Given the description of an element on the screen output the (x, y) to click on. 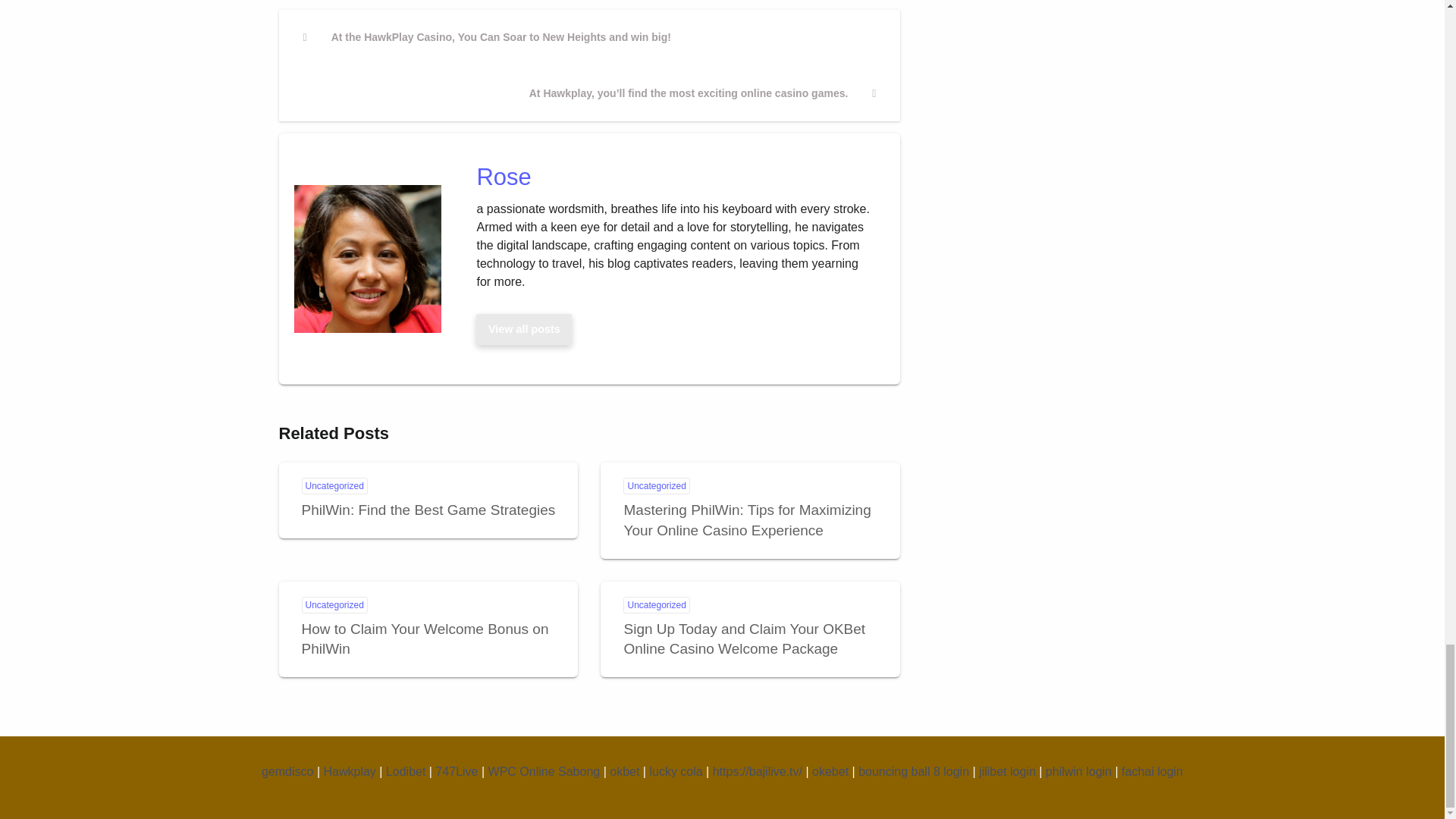
Rose (674, 176)
Uncategorized (334, 605)
How to Claim Your Welcome Bonus on PhilWin (424, 638)
Rose (674, 176)
View all posts (523, 328)
Rose (523, 328)
Uncategorized (334, 485)
PhilWin: Find the Best Game Strategies (428, 509)
Uncategorized (655, 605)
